Given the description of an element on the screen output the (x, y) to click on. 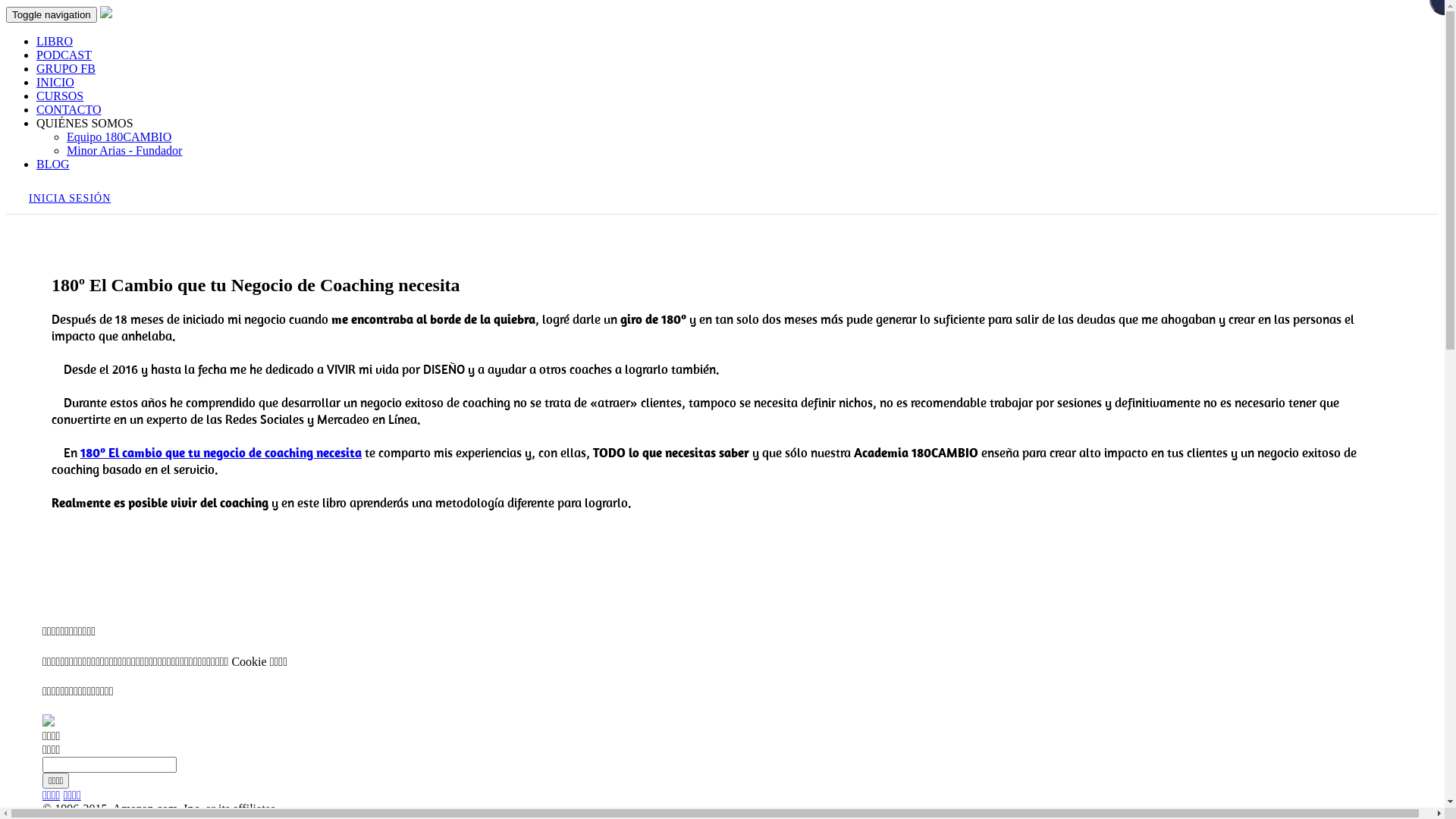
Minor Arias - Fundador Element type: text (124, 150)
BLOG Element type: text (52, 163)
GRUPO FB Element type: text (65, 68)
PODCAST Element type: text (63, 54)
CURSOS Element type: text (59, 95)
LIBRO Element type: text (54, 40)
Toggle navigation Element type: text (51, 14)
CONTACTO Element type: text (68, 109)
Equipo 180CAMBIO Element type: text (118, 136)
INICIO Element type: text (55, 81)
